Given the description of an element on the screen output the (x, y) to click on. 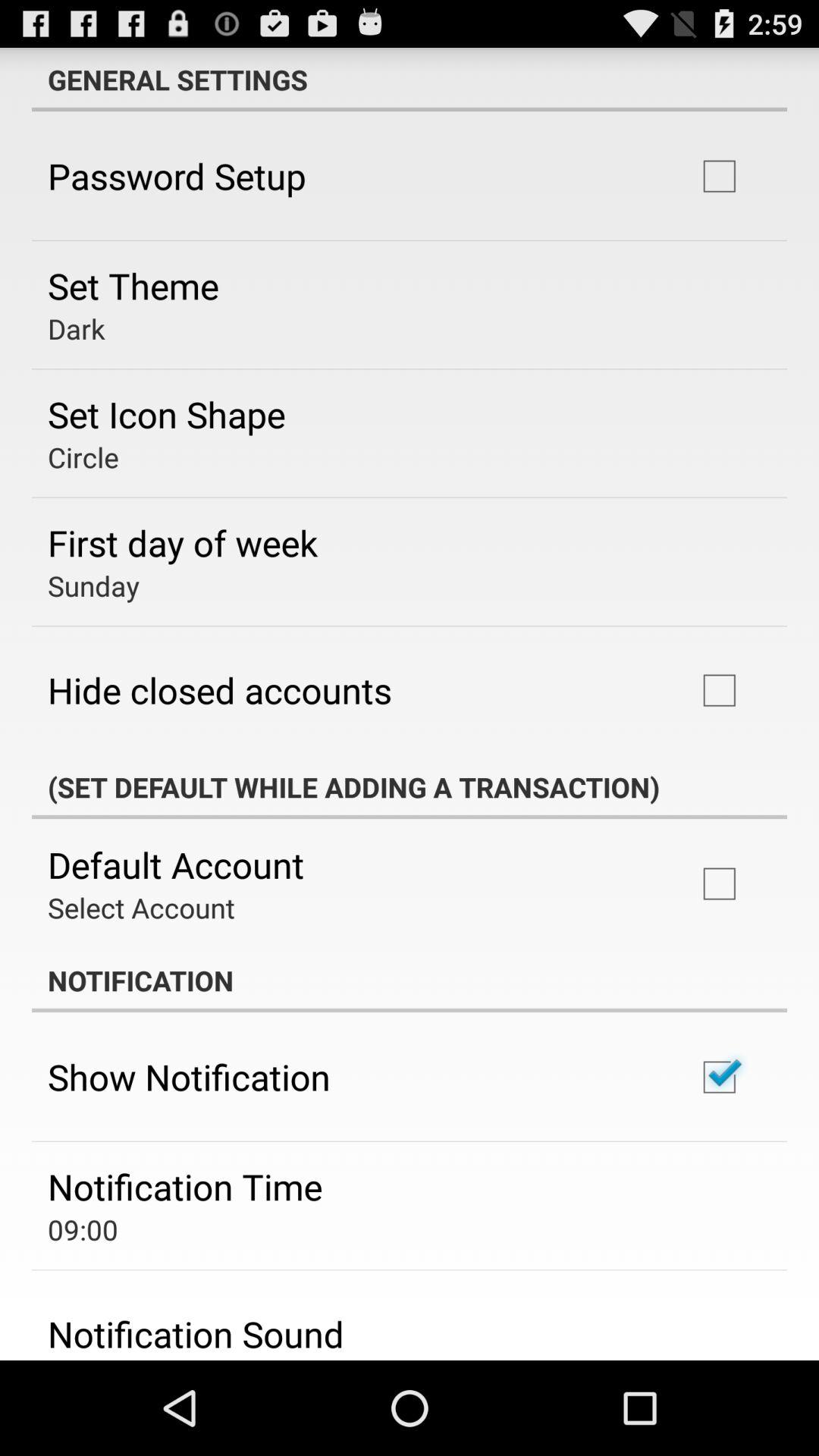
open icon below the set icon shape icon (82, 457)
